Given the description of an element on the screen output the (x, y) to click on. 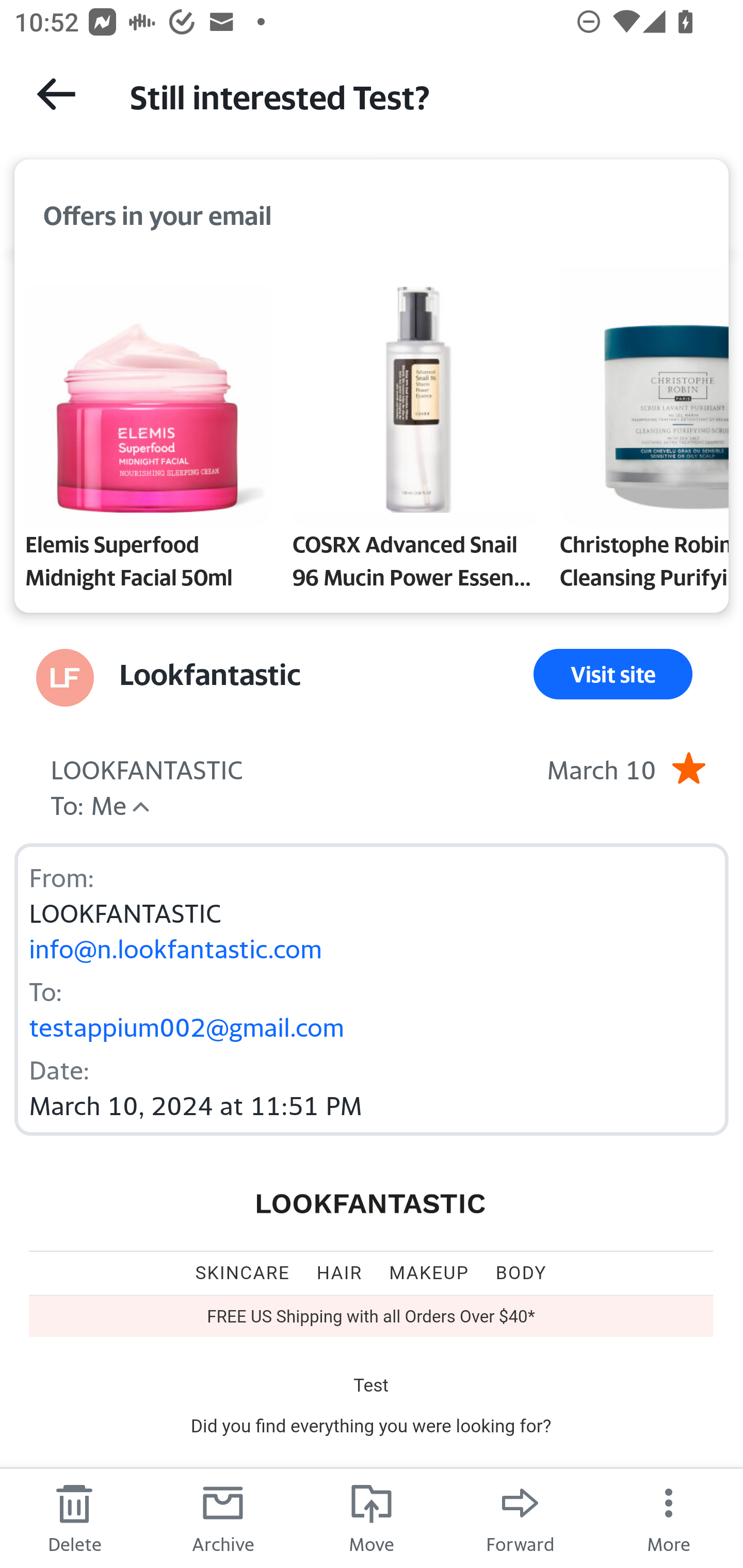
Back (55, 93)
Still interested Test? (418, 94)
Elemis Superfood Midnight Facial 50ml (147, 432)
COSRX Advanced Snail 96 Mucin Power Essence 100ml (415, 432)
View all messages from sender (64, 678)
Visit site Visit Site Link (612, 674)
Lookfantastic Sender Lookfantastic (209, 673)
LOOKFANTASTIC Sender LOOKFANTASTIC (146, 767)
Remove star. (688, 767)
To: Me Hide details (88, 803)
lookfantastic (371, 1204)
  SKINCARE   (242, 1272)
  HAIR   (338, 1272)
  MAKEUP   (428, 1272)
  BODY   (520, 1272)
Delete (74, 1517)
Archive (222, 1517)
Move (371, 1517)
Forward (519, 1517)
More (668, 1517)
